Given the description of an element on the screen output the (x, y) to click on. 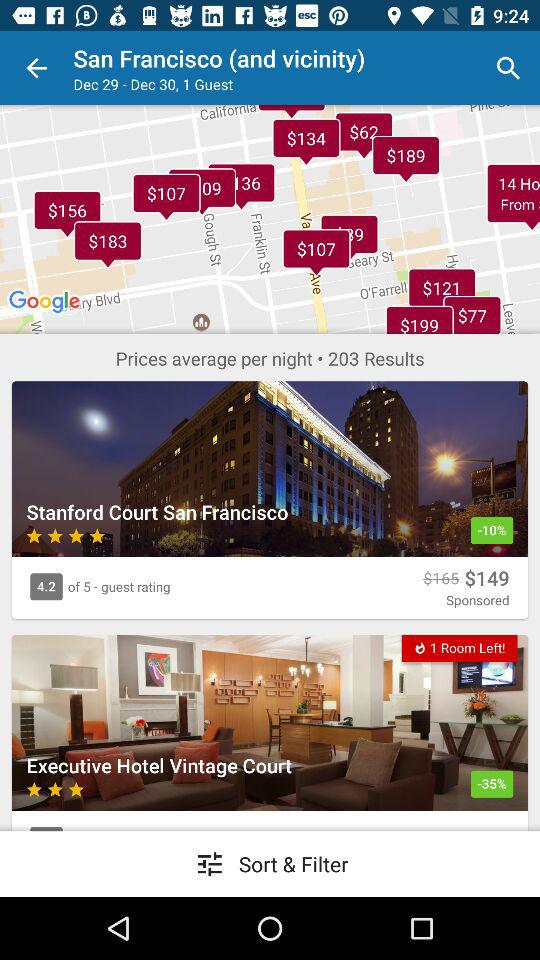
select the 1st image below the maps (269, 468)
select the 1st image completely below the maps (269, 500)
go to the search icon on the top right corner (508, 68)
go to the icon which is left to the 1 room left (420, 647)
